Given the description of an element on the screen output the (x, y) to click on. 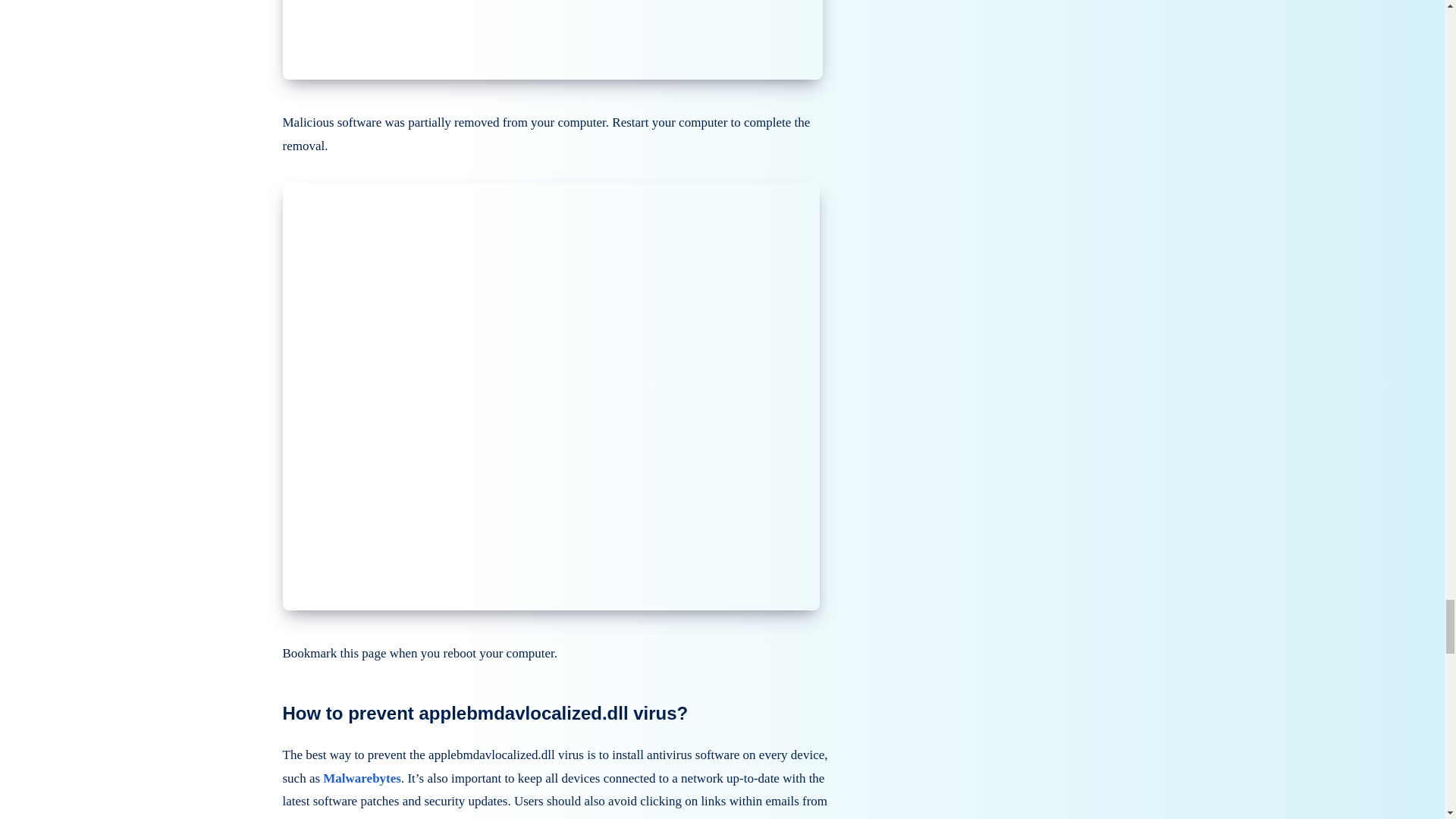
Malwarebytes (362, 778)
